Given the description of an element on the screen output the (x, y) to click on. 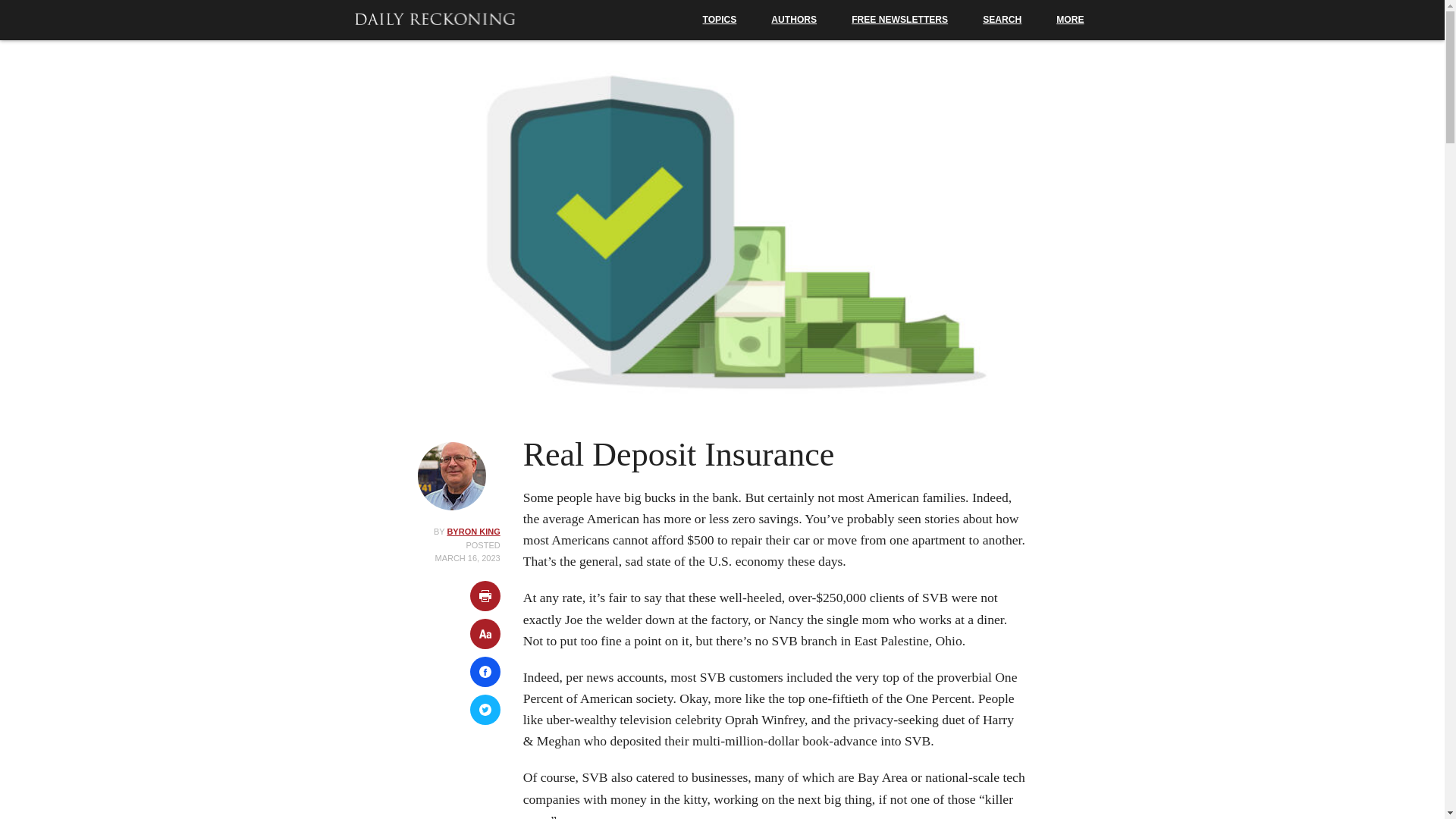
TOPICS (719, 20)
BYRON KING (472, 531)
